Given the description of an element on the screen output the (x, y) to click on. 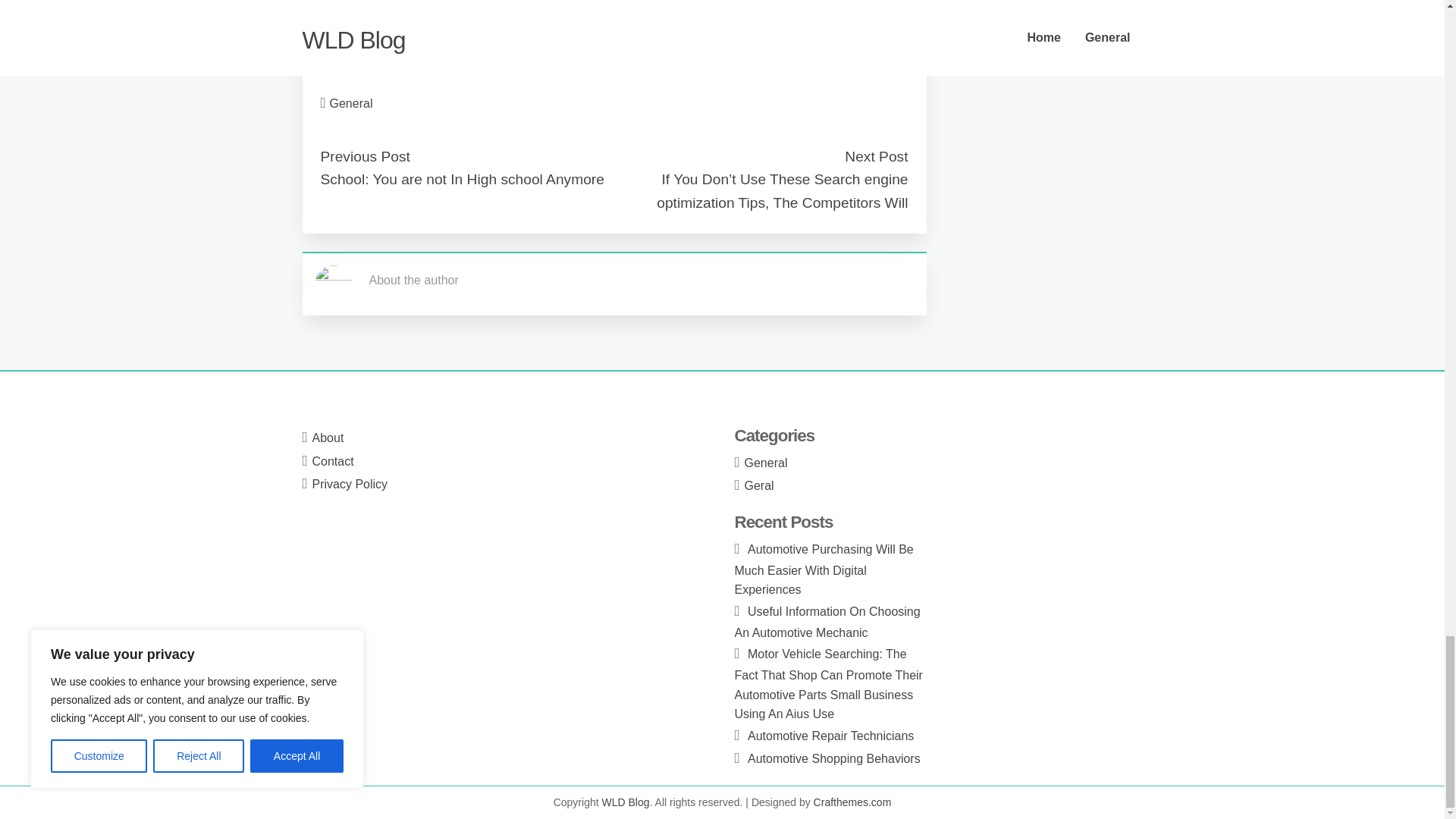
About (328, 437)
Next Post (875, 156)
General (351, 103)
Useful Information On Choosing An Automotive Mechanic (826, 622)
Contact (333, 461)
Previous Post (364, 156)
Privacy Policy (350, 483)
General (765, 462)
School: You are not In High school Anymore (462, 179)
